Given the description of an element on the screen output the (x, y) to click on. 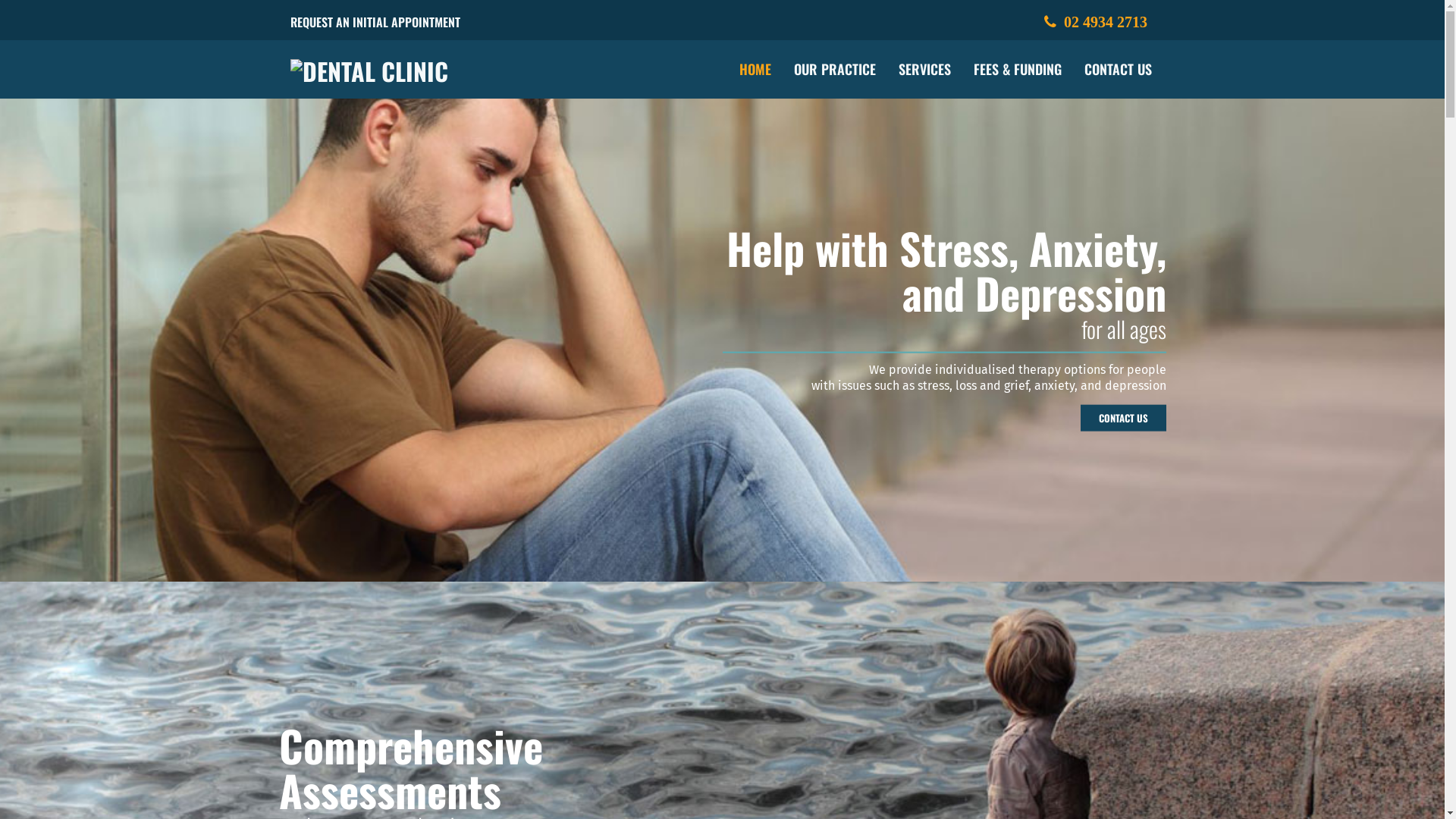
OUR PRACTICE Element type: text (834, 68)
CONTACT US Element type: text (1122, 417)
REQUEST AN INITIAL APPOINTMENT Element type: text (374, 21)
CONTACT US Element type: text (1117, 68)
HOME Element type: text (755, 68)
FEES & FUNDING Element type: text (1016, 68)
SERVICES Element type: text (924, 68)
  02 4934 2713 Element type: text (1094, 21)
